Given the description of an element on the screen output the (x, y) to click on. 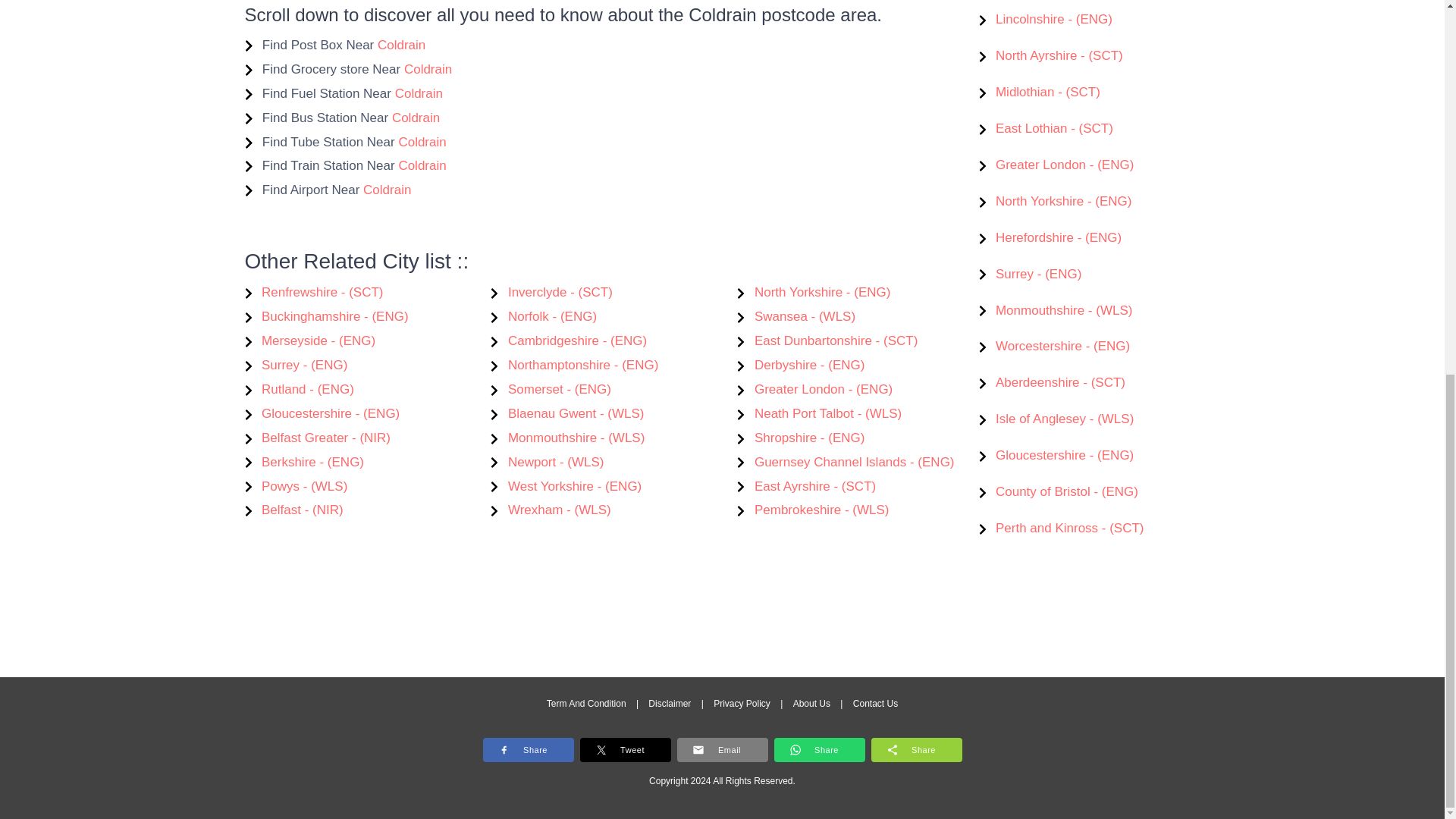
Coldrain (418, 93)
Coldrain (421, 165)
Coldrain (421, 142)
Coldrain (401, 44)
Coldrain (427, 69)
Coldrain (386, 189)
Coldrain (415, 117)
